Given the description of an element on the screen output the (x, y) to click on. 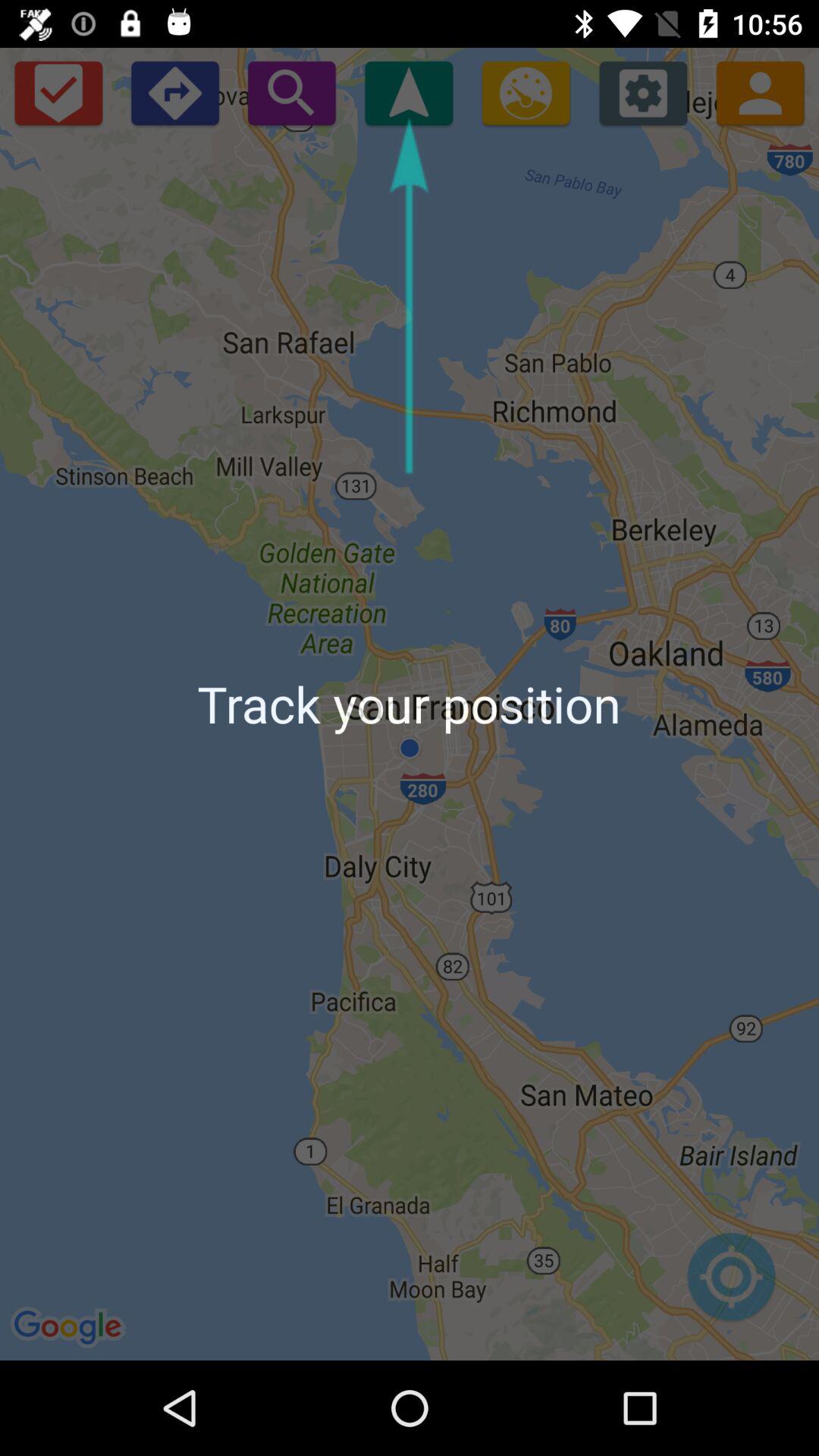
optons switch (642, 92)
